Given the description of an element on the screen output the (x, y) to click on. 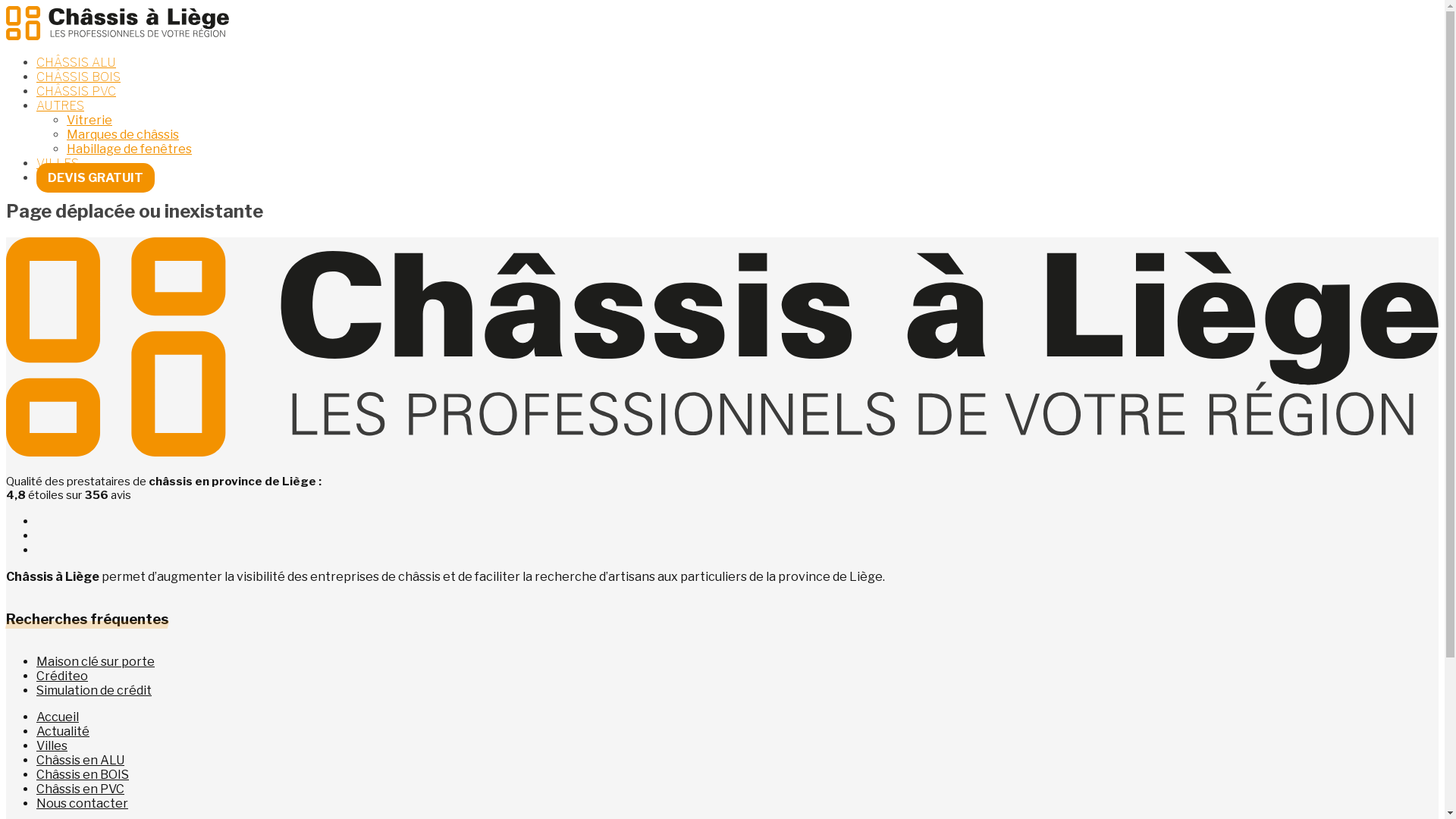
AUTRES Element type: text (60, 105)
Vitrerie Element type: text (89, 119)
DEVIS GRATUIT Element type: text (95, 177)
Villes Element type: text (51, 745)
Accueil Element type: text (57, 716)
Nous contacter Element type: text (82, 803)
VILLES Element type: text (57, 163)
